Given the description of an element on the screen output the (x, y) to click on. 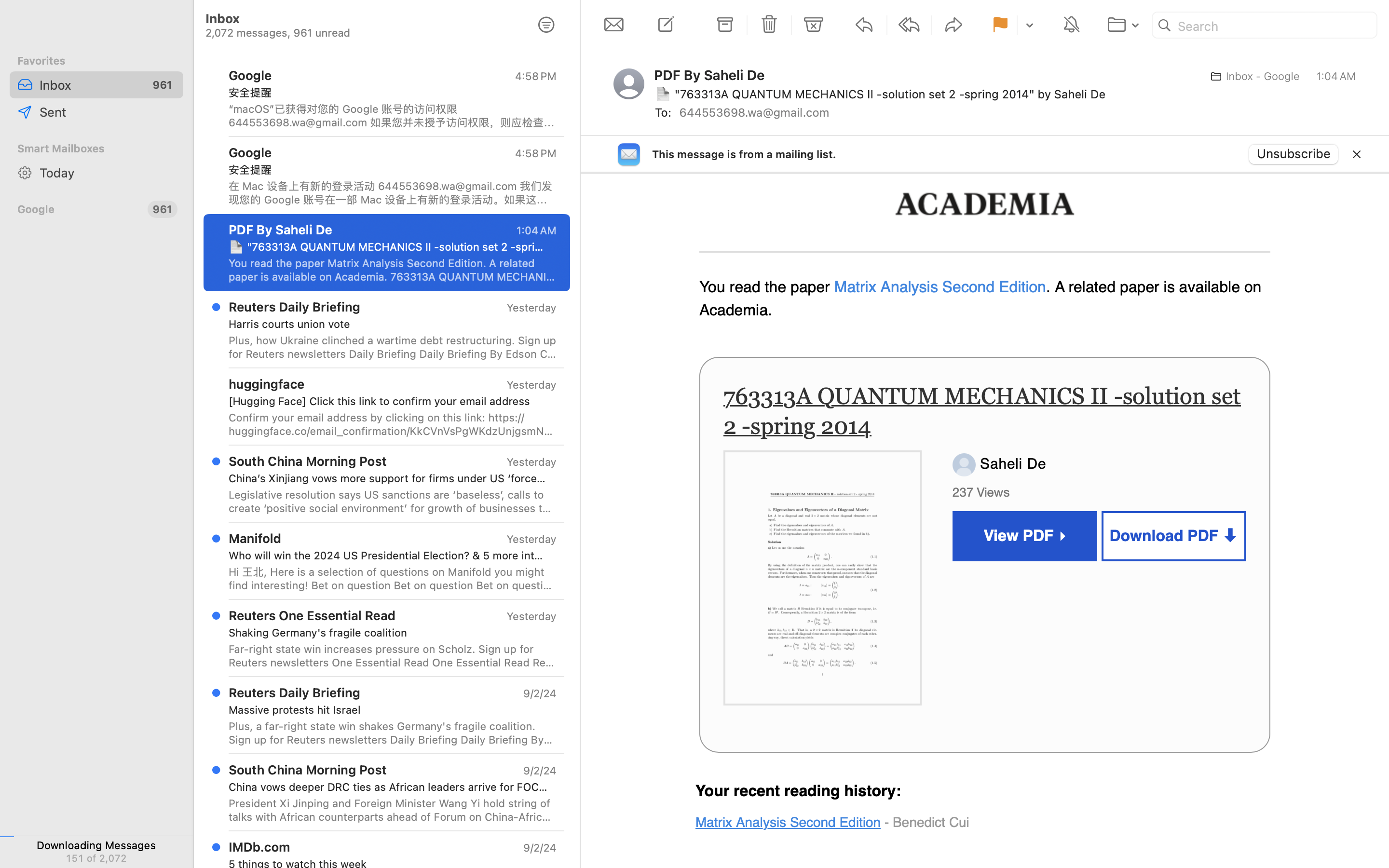
President Xi Jinping and Foreign Minister Wang Yi hold string of talks with African counterparts ahead of Forum on China-Africa ... - South China Morning Post, SCMP, SCMP Today: Intl Edition - President Xi Jinping and Foreign Minister Wang Yi hold string of talks with African counterparts ahead of Forum on China-Africa ... Monday 2nd September, 2024 China politics & diplomacy ChinaChina vows deeper DRC ties as African leaders arrive for FOCAC meetings2 Sep, 2024 - 05:13 pmPresident Xi Jinping and Foreign Minister Wang Yi hold string of talks with African counterparts ahead of Forum on China-Africa Cooperation. EconomyChina moves to curb money worship, extravagance and excess in financial sector2 Sep, 2024 - 04:04 pm EconomyChina’s yuan to continue to gain, but outlook hinges on Fed rate cuts: analysts2 Sep, 2024 - 05:42 pm Featured Podcast3. Millennials, GenZ and hire education Video Of The Day Hong Kong’s youngest Paralympic medallist Jasmine Ng clinches swimming bronze at age 14OPINI Element type: AXStaticText (392, 809)
Today Element type: AXTextField (107, 172)
Favorites Element type: AXStaticText (96, 60)
Yesterday Element type: AXStaticText (531, 384)
Matrix Analysis Second Edition Element type: AXStaticText (939, 287)
